Given the description of an element on the screen output the (x, y) to click on. 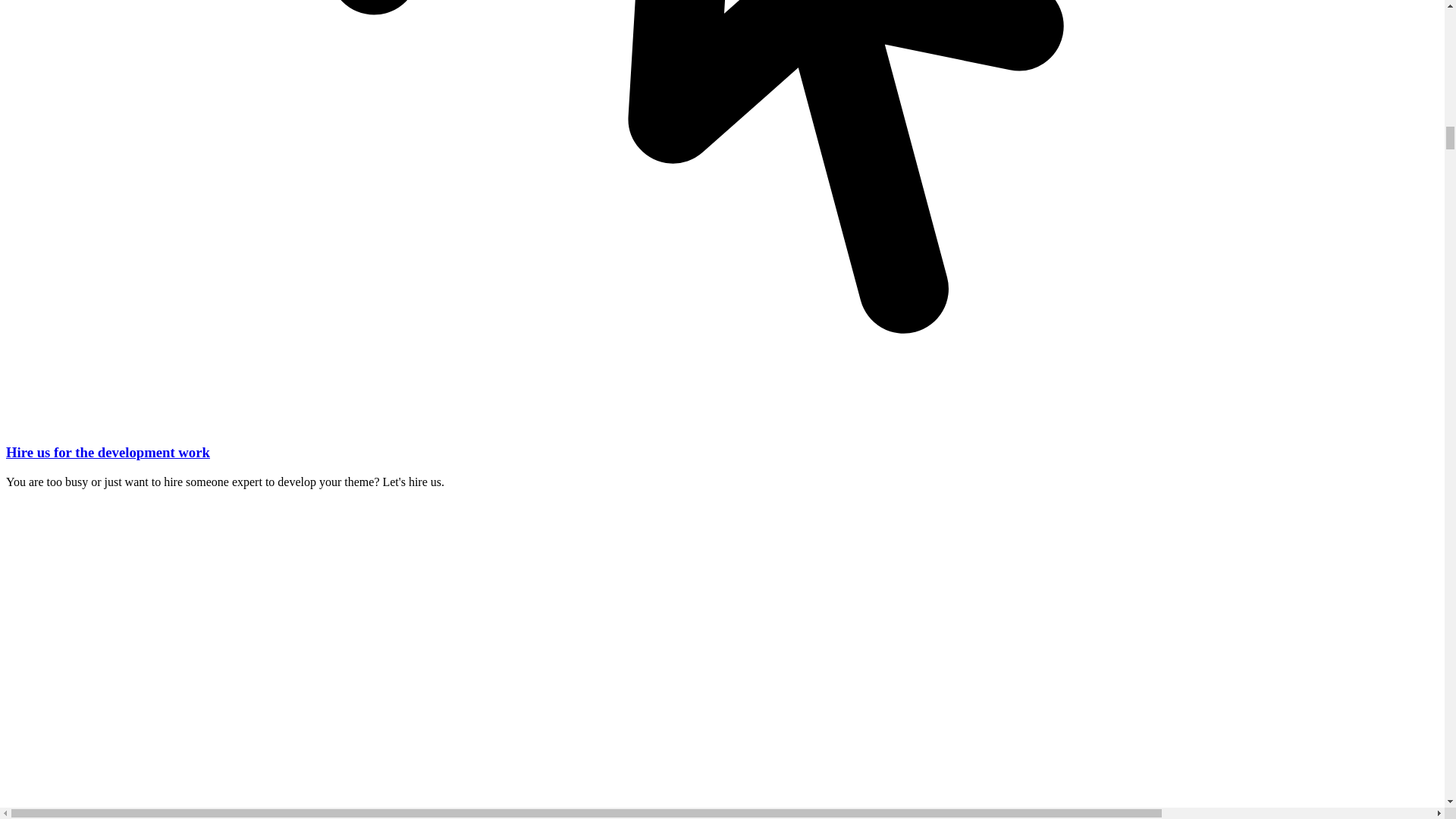
Hire us for the development work (107, 452)
